Given the description of an element on the screen output the (x, y) to click on. 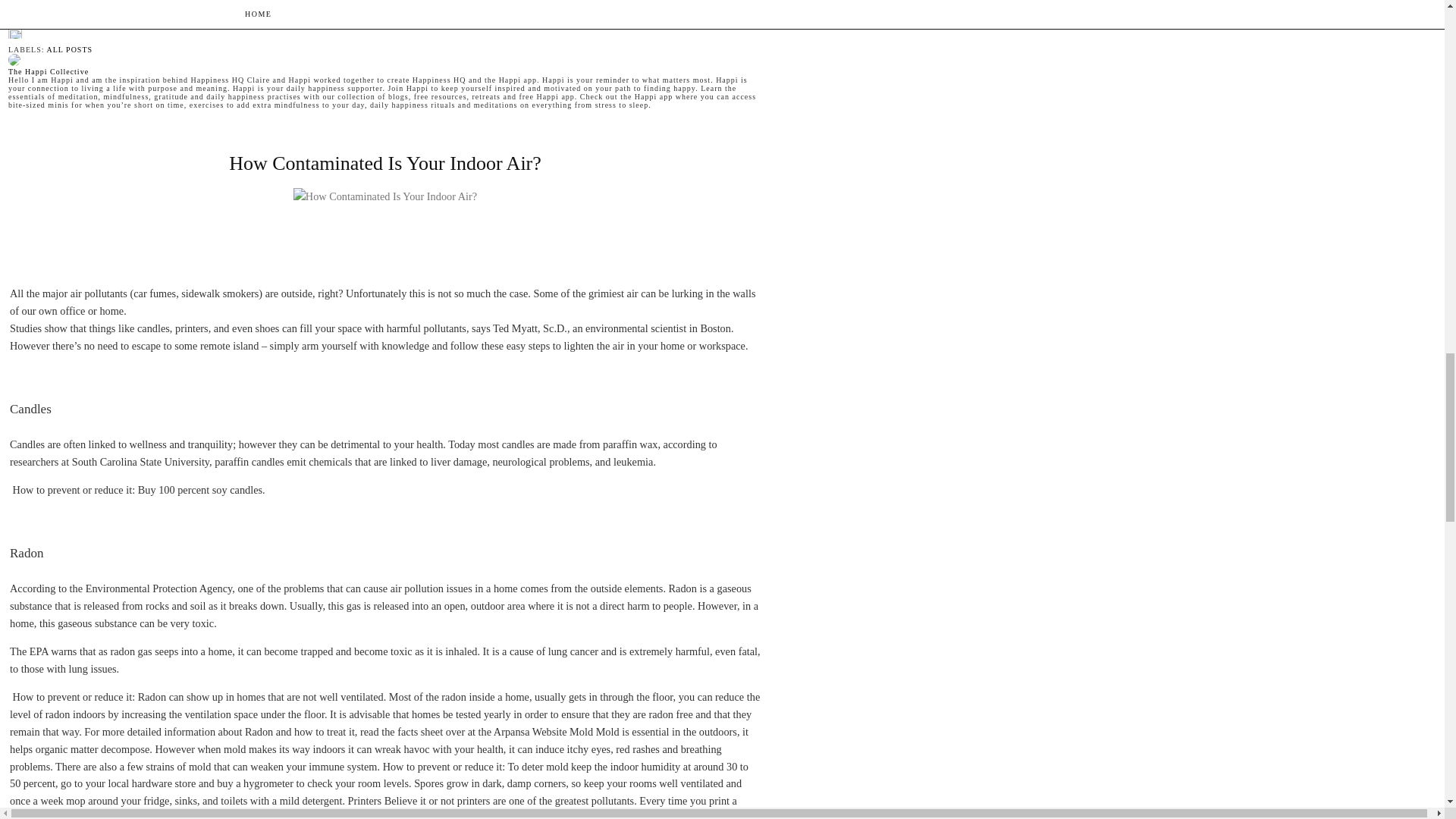
How Contaminated Is Your Indoor Air? (384, 163)
Email Post (14, 40)
author profile (48, 71)
The Happi Collective (48, 71)
ALL POSTS (69, 49)
